Given the description of an element on the screen output the (x, y) to click on. 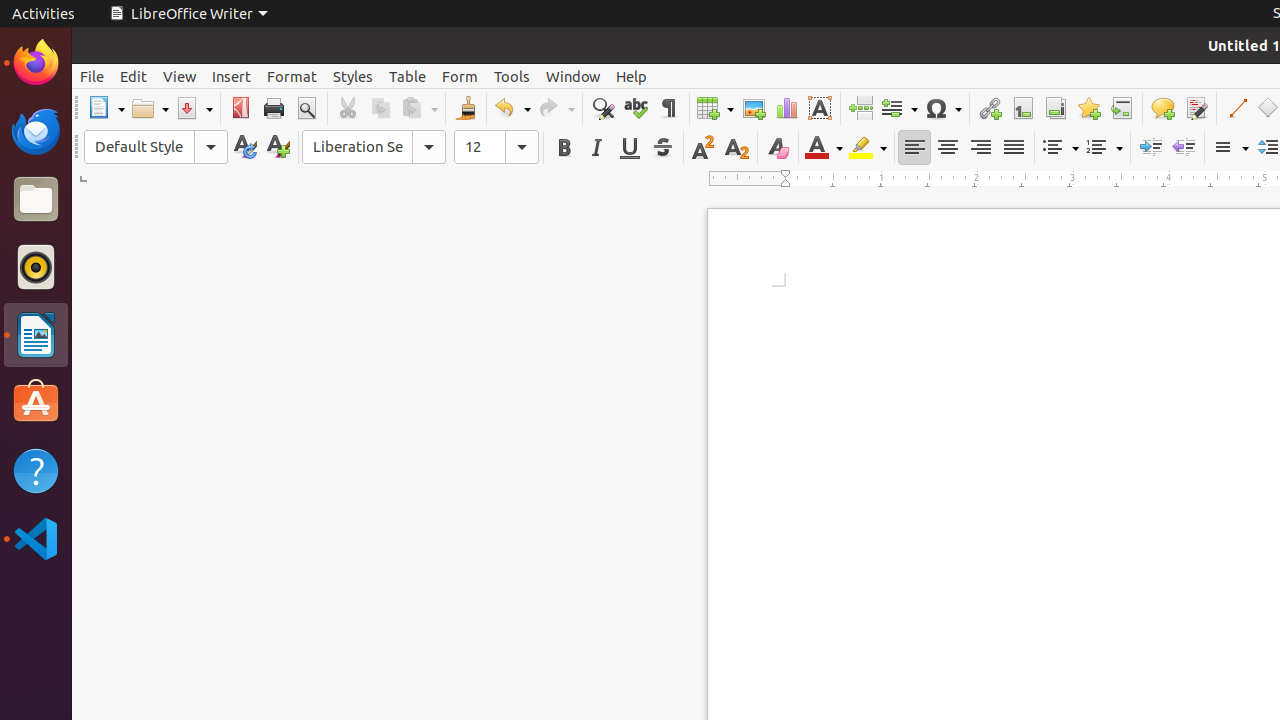
Help Element type: menu (631, 76)
Subscript Element type: toggle-button (736, 147)
Chart Element type: push-button (786, 108)
Find & Replace Element type: toggle-button (602, 108)
Justified Element type: toggle-button (1013, 147)
